Given the description of an element on the screen output the (x, y) to click on. 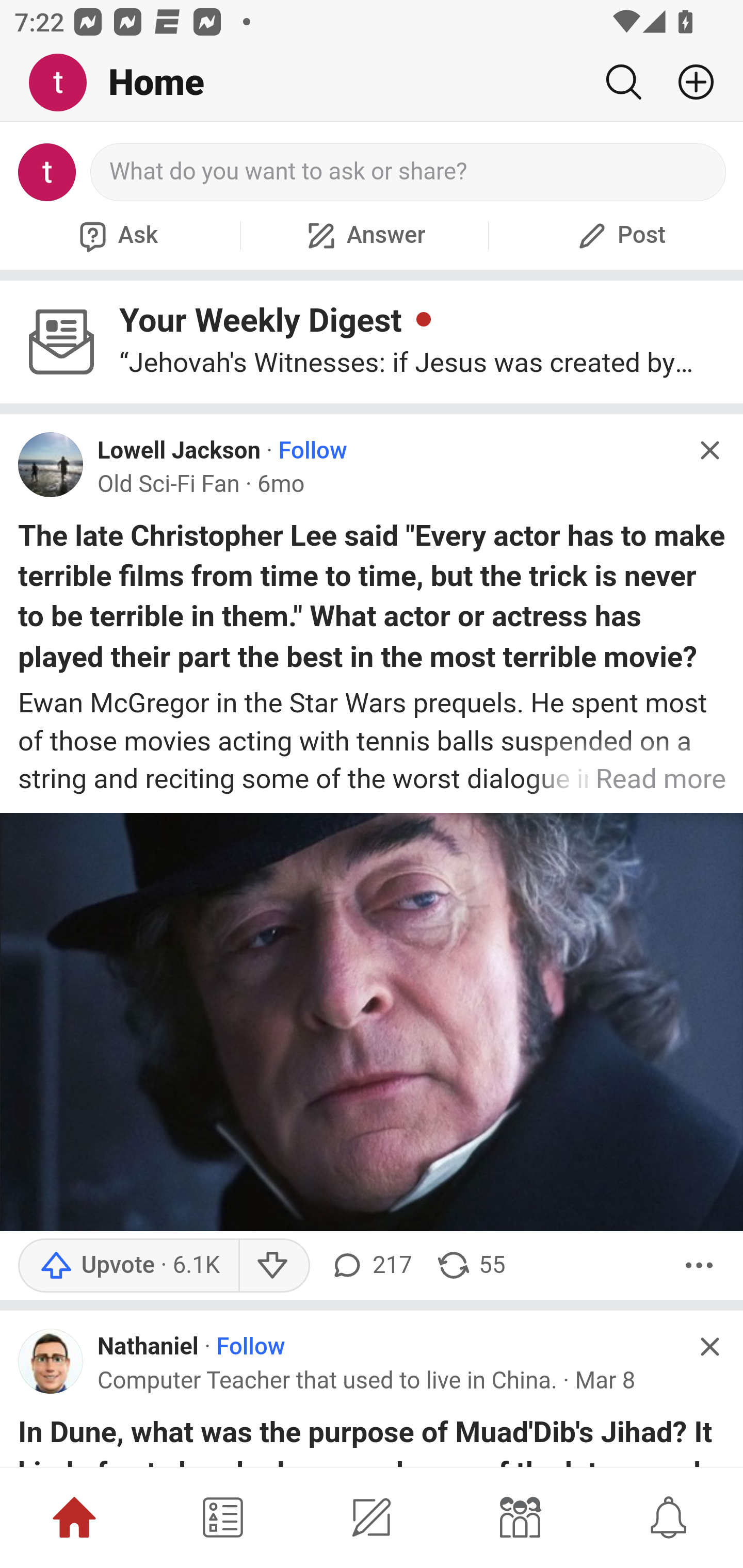
Me Home Search Add (371, 82)
Me (64, 83)
Search (623, 82)
Add (688, 82)
